Given the description of an element on the screen output the (x, y) to click on. 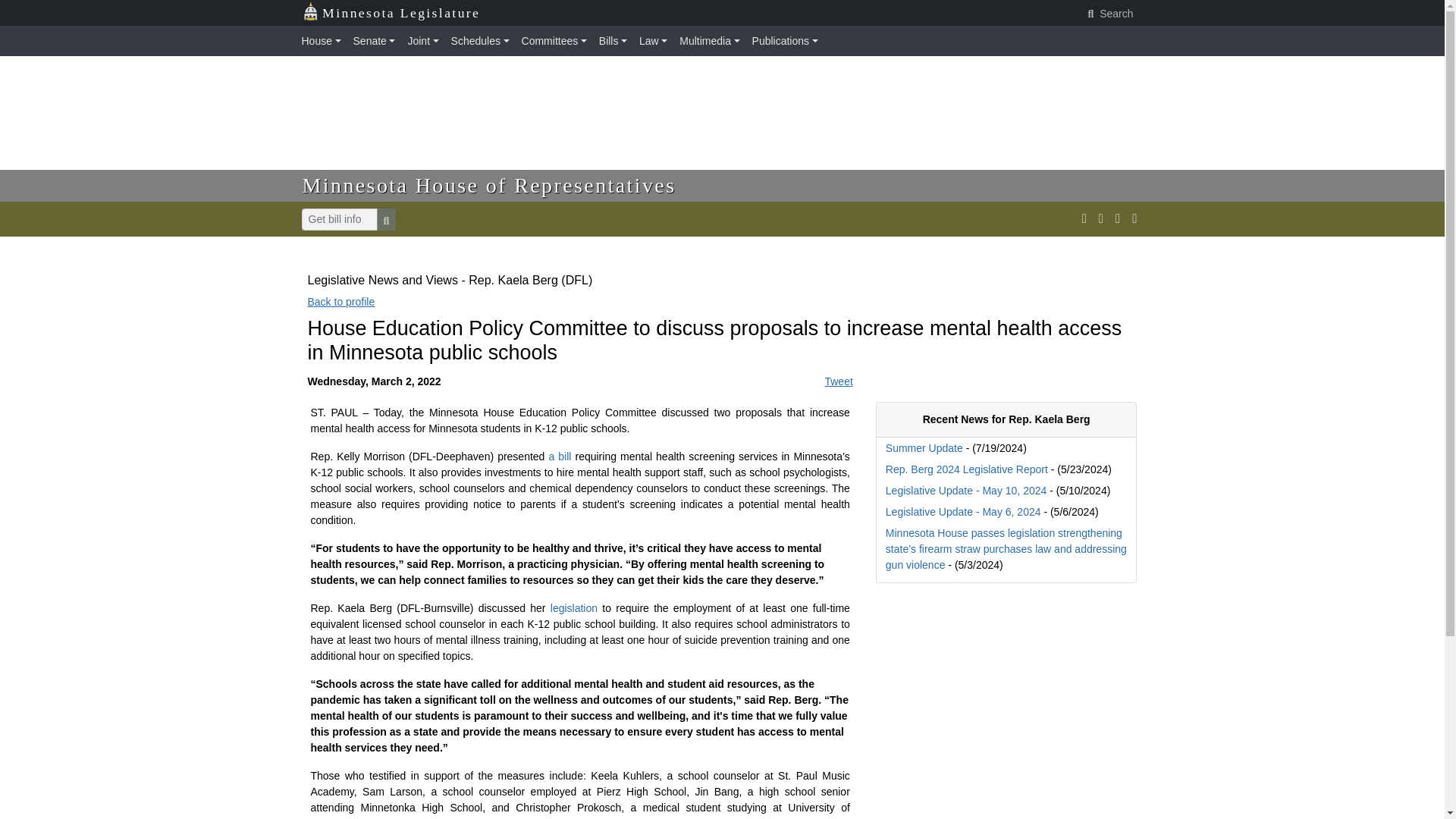
Search (1111, 13)
Senate (374, 40)
House (324, 40)
Minnesota Legislature (390, 12)
